Given the description of an element on the screen output the (x, y) to click on. 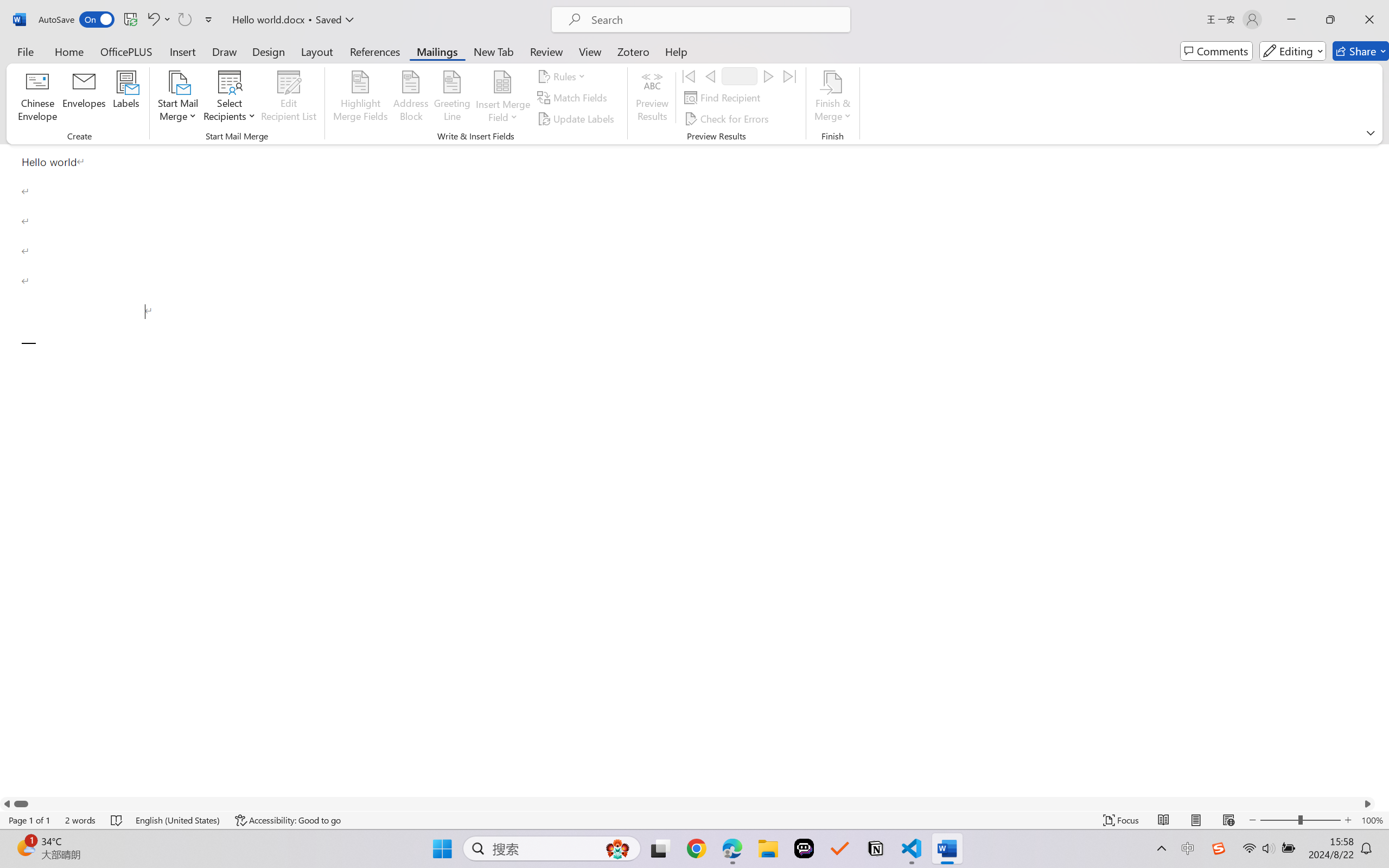
Review (546, 51)
Column right (1368, 803)
Match Fields... (573, 97)
Zotero (632, 51)
OfficePLUS (126, 51)
File Tab (24, 51)
Save (130, 19)
Insert (182, 51)
Select Recipients (229, 97)
Zoom Out (1278, 819)
Finish & Merge (832, 97)
